Given the description of an element on the screen output the (x, y) to click on. 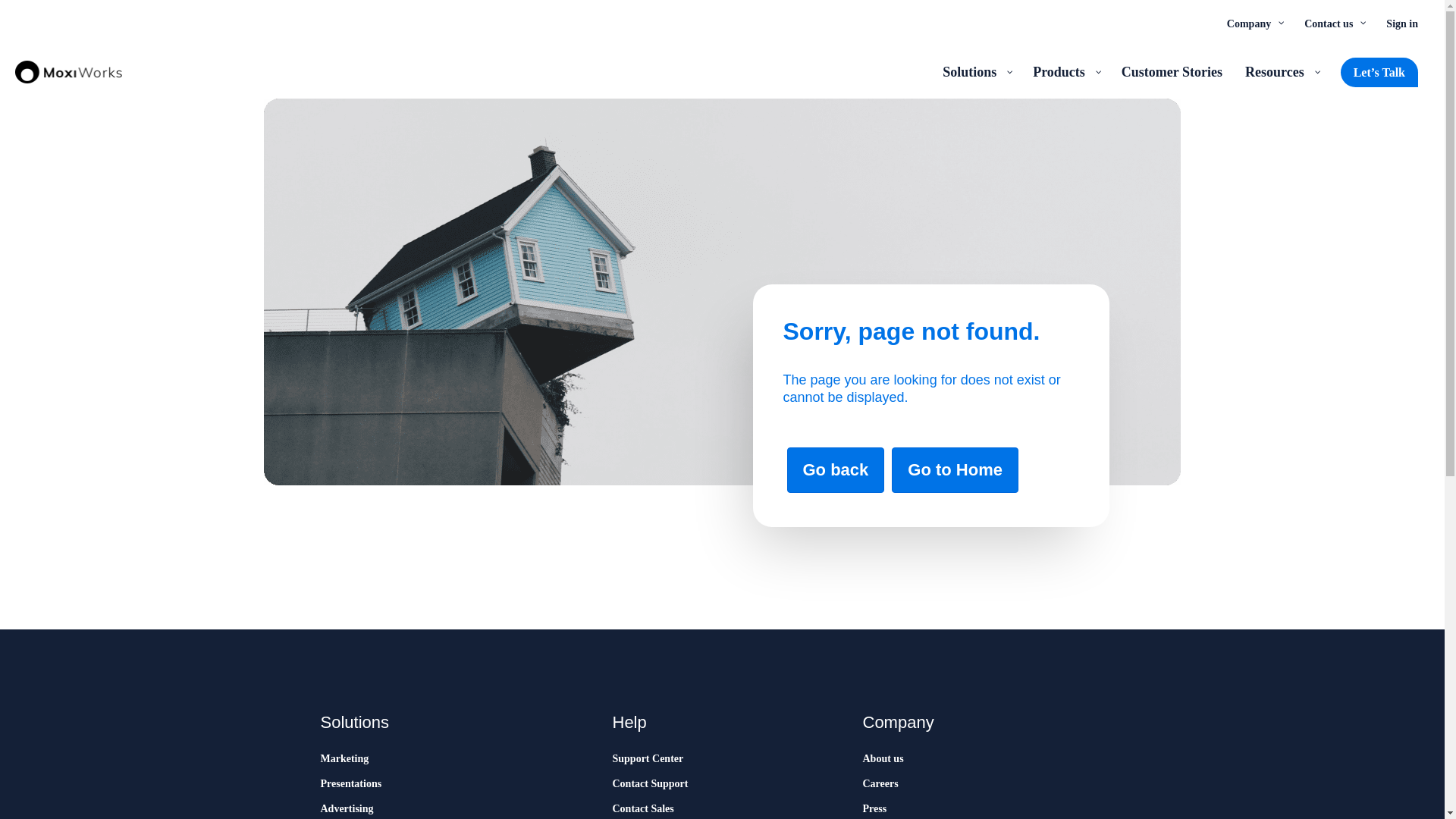
Company (1253, 22)
Solutions (976, 72)
Sign in (1401, 22)
Contact us (1333, 22)
Products (1065, 72)
